Given the description of an element on the screen output the (x, y) to click on. 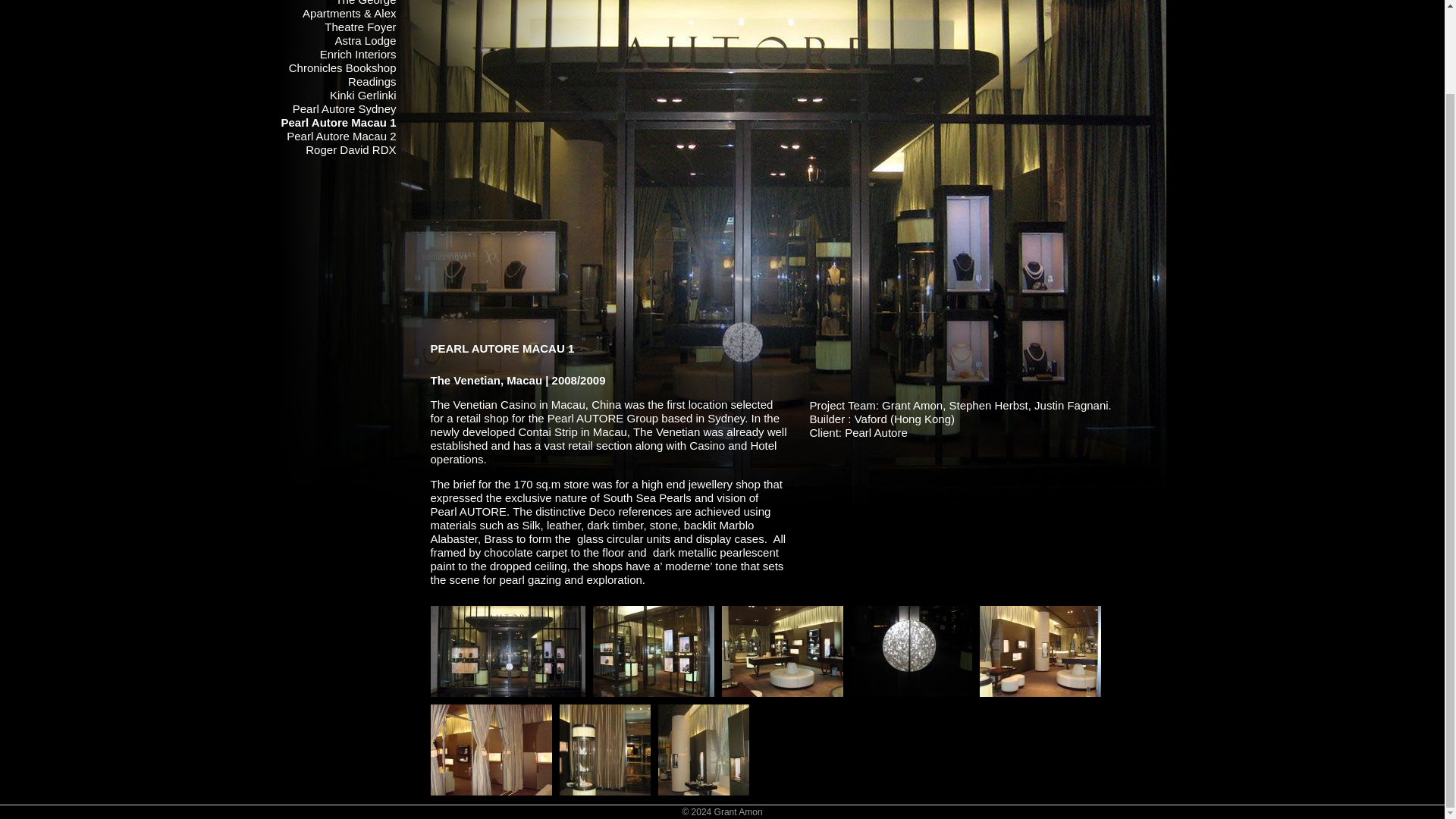
Pearl Autore Macau 1 (338, 122)
Pearl Autore Macau 1 (653, 649)
Roger David RDX (350, 149)
Kinki Gerlinki (363, 94)
Pearl Autore Macau 1 (782, 649)
Readings (371, 81)
Astra Lodge (365, 40)
Chronicles Bookshop (342, 67)
Pearl Autore Macau 1 (703, 748)
Enrich Interiors (358, 53)
Pearl Autore Macau 1 (604, 748)
Pearl Autore Macau 1 (490, 748)
Pearl Autore Macau 1 (507, 649)
Pearl Autore Macau 1 (1039, 649)
Pearl Autore Sydney (344, 108)
